Given the description of an element on the screen output the (x, y) to click on. 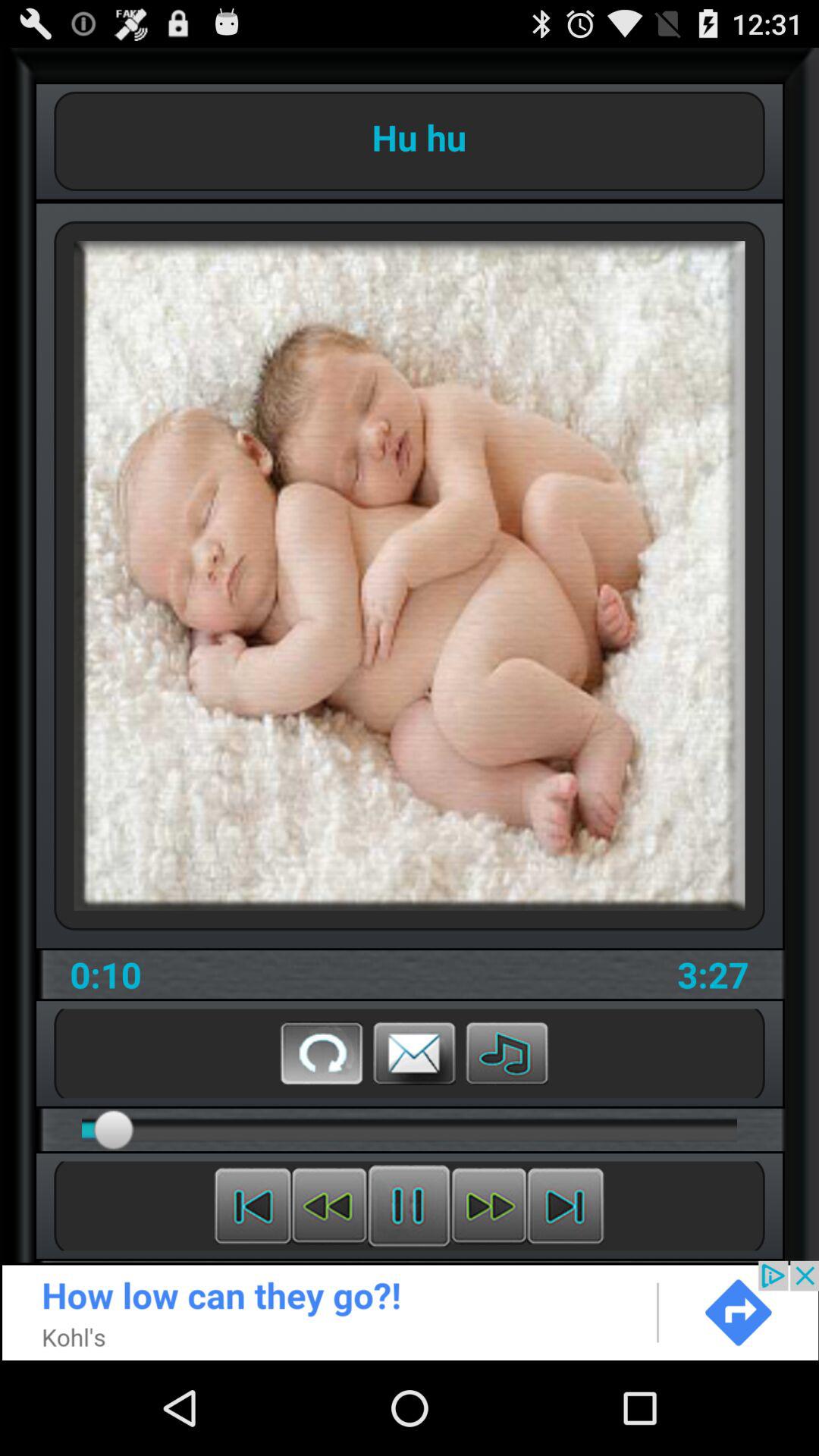
click the button on the right next to the refresh button on the web page (414, 1053)
select the image on the web page (409, 576)
click the refresh button on the web page (321, 1053)
click on the first left button above how low can they go (252, 1205)
